Given the description of an element on the screen output the (x, y) to click on. 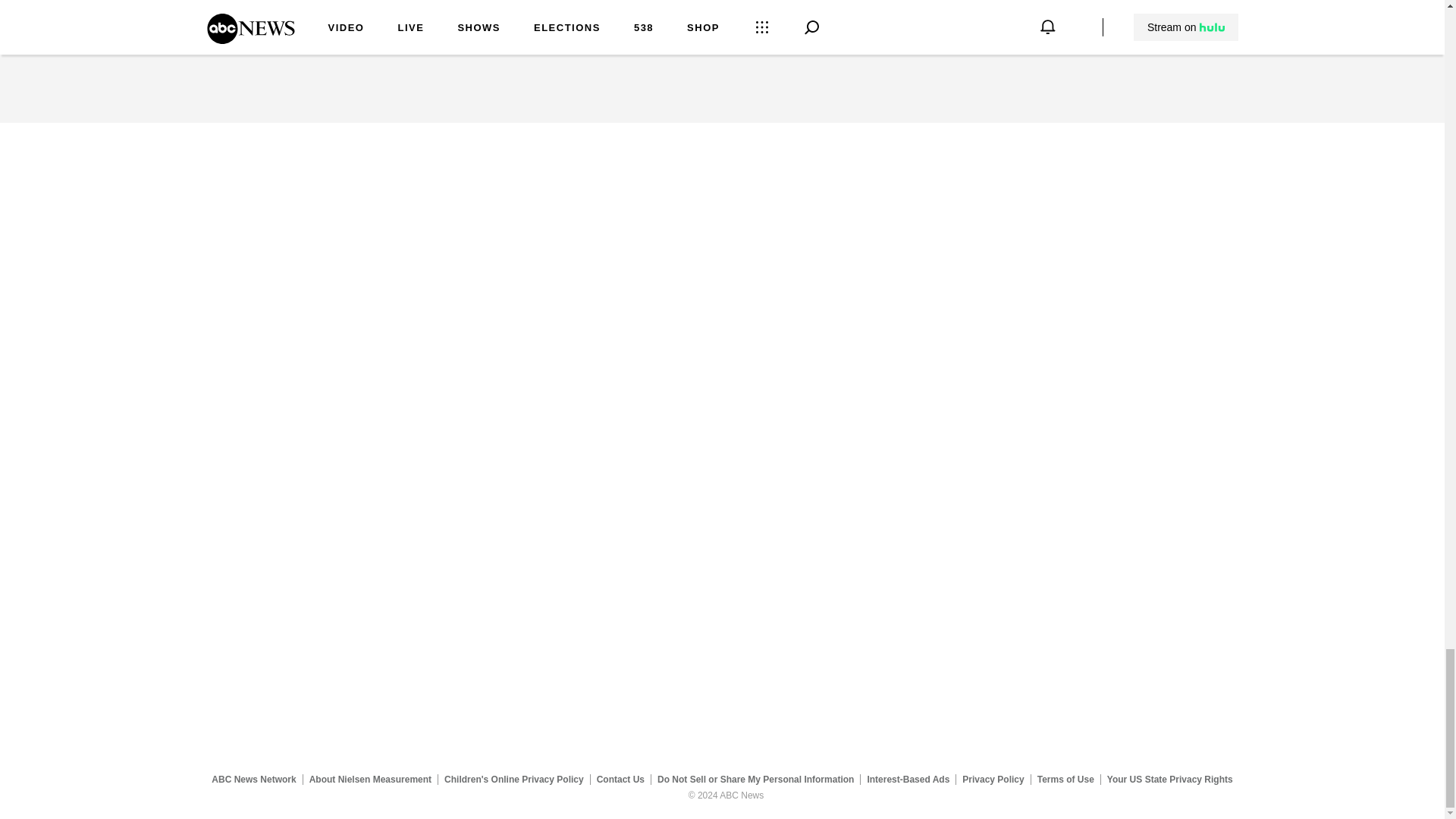
Terms of Use (1065, 778)
Privacy Policy (993, 778)
Do Not Sell or Share My Personal Information (755, 778)
Your US State Privacy Rights (1169, 778)
Contact Us (620, 778)
About Nielsen Measurement (370, 778)
Interest-Based Ads (908, 778)
Children's Online Privacy Policy (514, 778)
ABC News Network (253, 778)
